Given the description of an element on the screen output the (x, y) to click on. 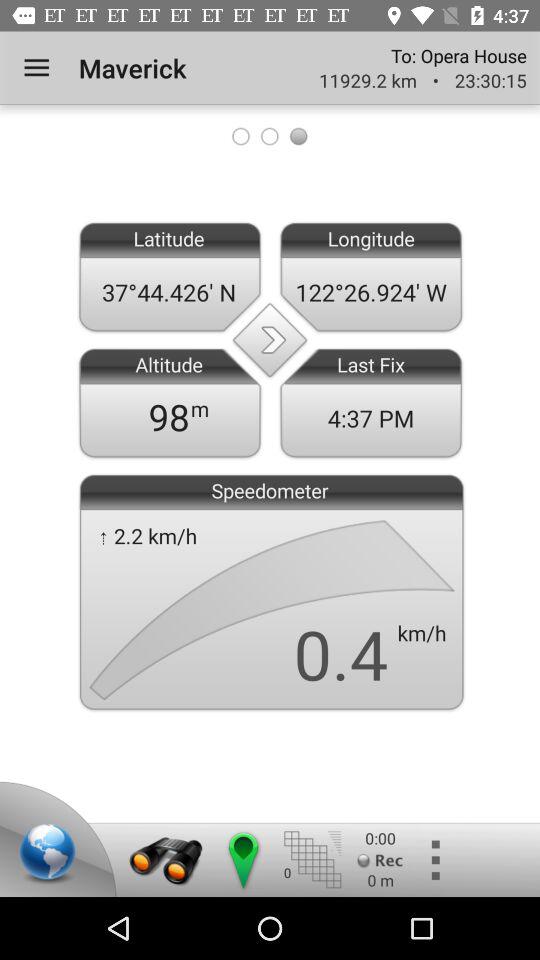
select the record button (380, 860)
